Given the description of an element on the screen output the (x, y) to click on. 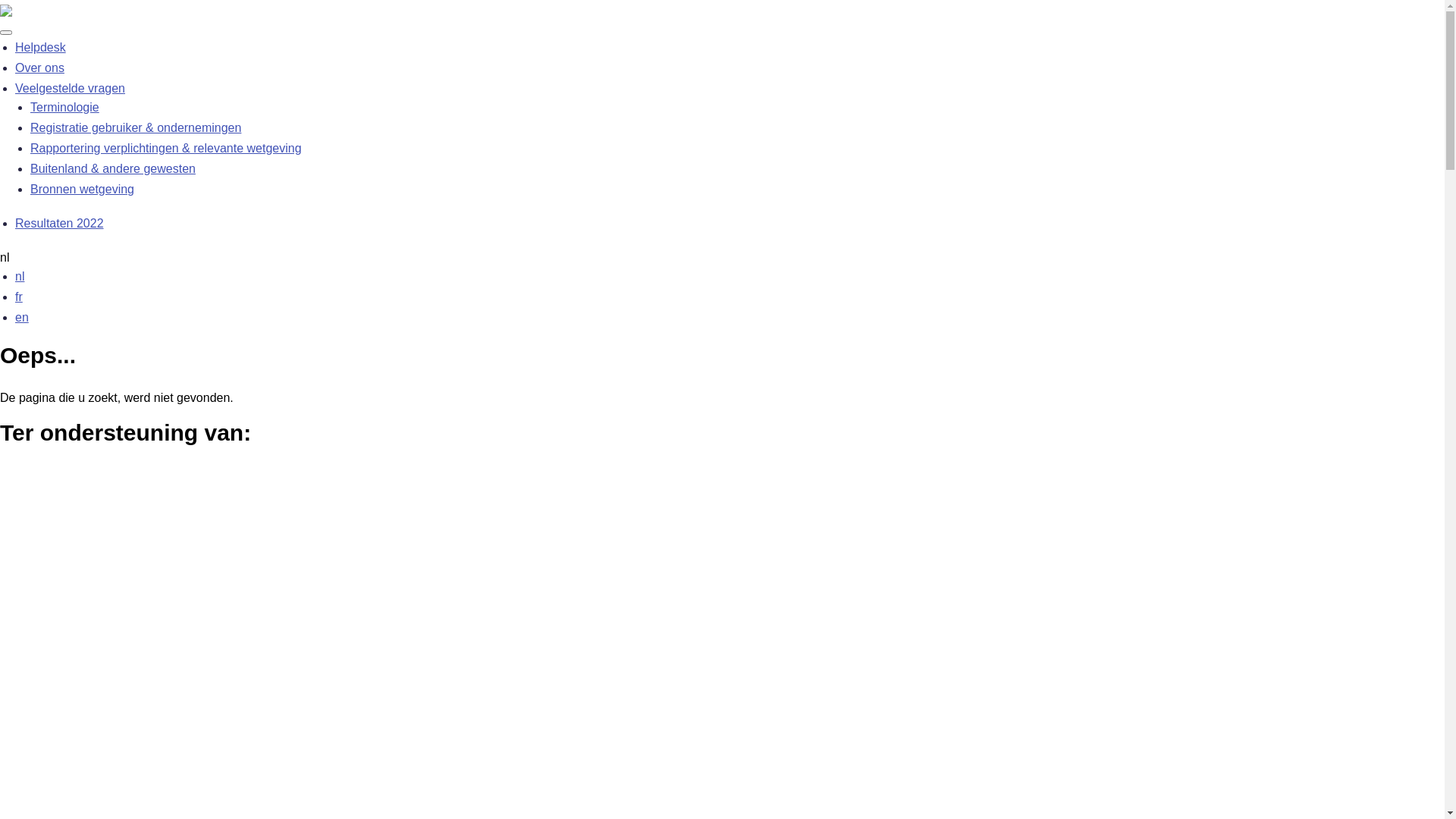
Over ons Element type: text (39, 67)
fr Element type: text (18, 296)
Rapportering verplichtingen & relevante wetgeving Element type: text (165, 147)
Registratie gebruiker & ondernemingen Element type: text (135, 127)
en Element type: text (21, 316)
Helpdesk Element type: text (40, 46)
Veelgestelde vragen Element type: text (70, 87)
Resultaten 2022 Element type: text (59, 222)
Bronnen wetgeving Element type: text (82, 188)
Terminologie Element type: text (64, 106)
nl Element type: text (19, 275)
Buitenland & andere gewesten Element type: text (112, 168)
